Given the description of an element on the screen output the (x, y) to click on. 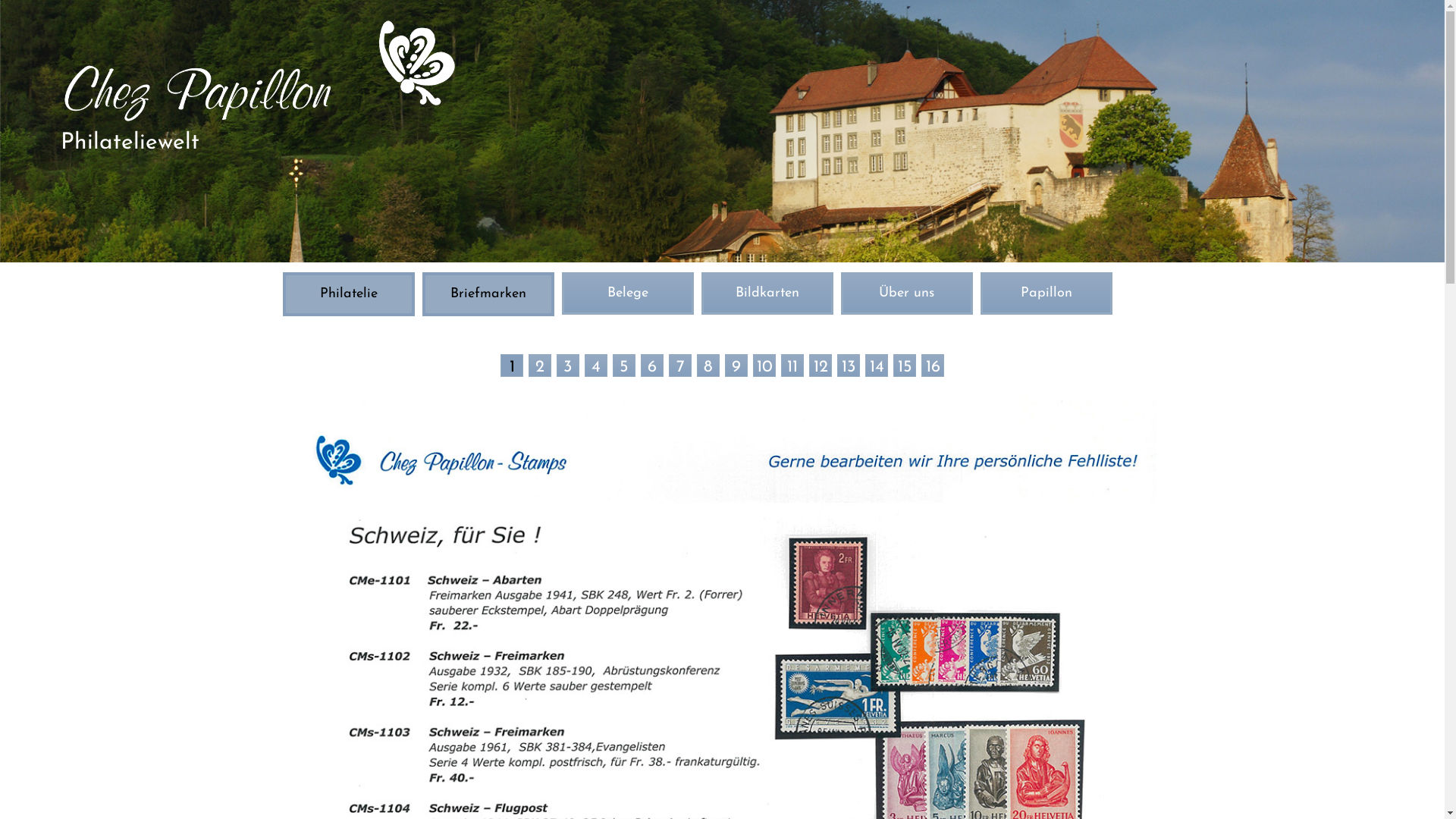
Philateliewelt Element type: text (259, 131)
Philatelie Element type: text (347, 293)
Belege Element type: text (627, 293)
Bildkarten Element type: text (767, 293)
Papillon Element type: text (1046, 293)
